Given the description of an element on the screen output the (x, y) to click on. 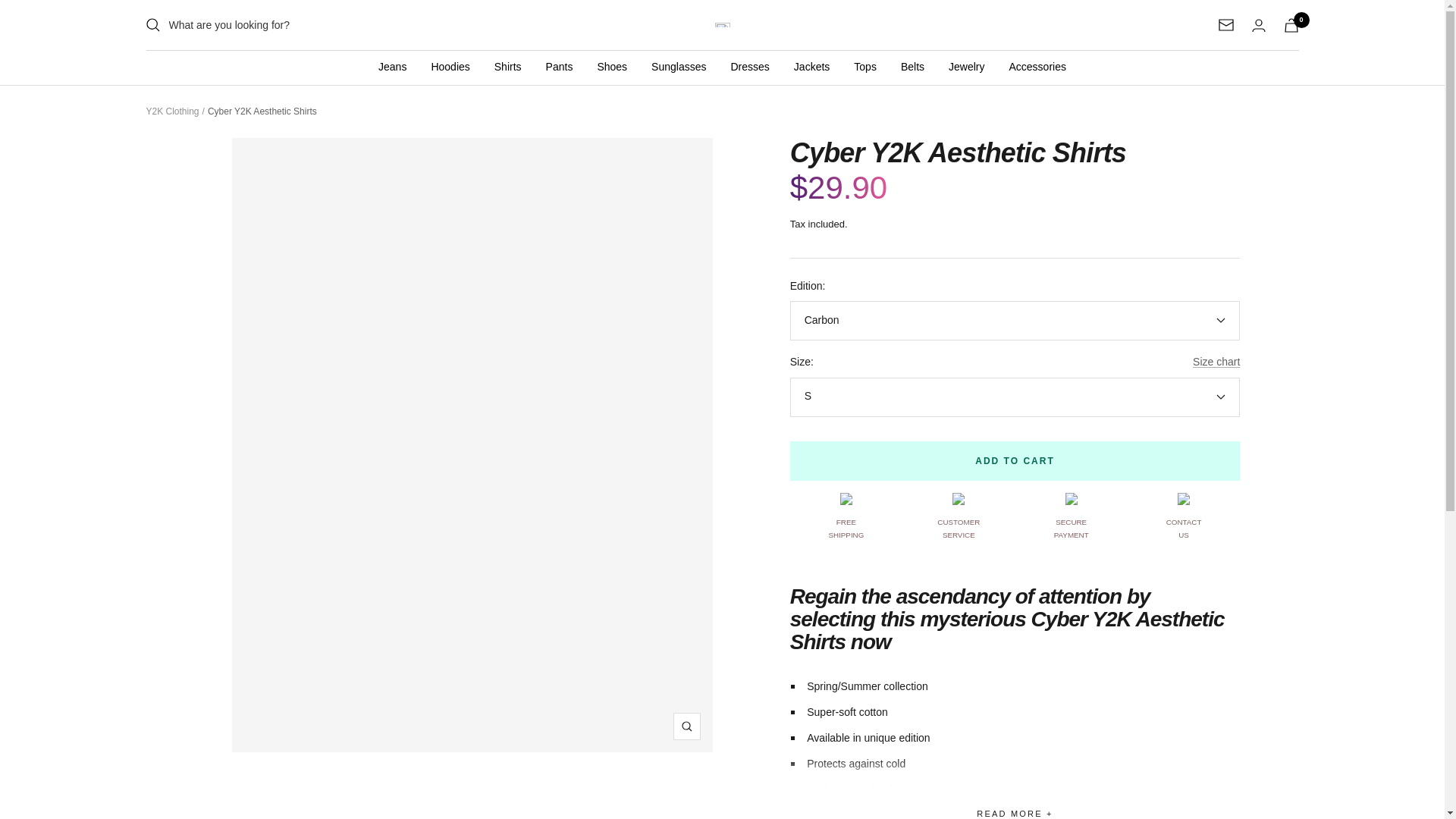
Tops (864, 66)
Dresses (749, 66)
Pants (559, 66)
Hoodies (449, 66)
Newsletter (1225, 24)
Y2K Clothing (721, 24)
Jewelry (966, 66)
0 (1290, 25)
Shoes (611, 66)
Sunglasses (678, 66)
